Given the description of an element on the screen output the (x, y) to click on. 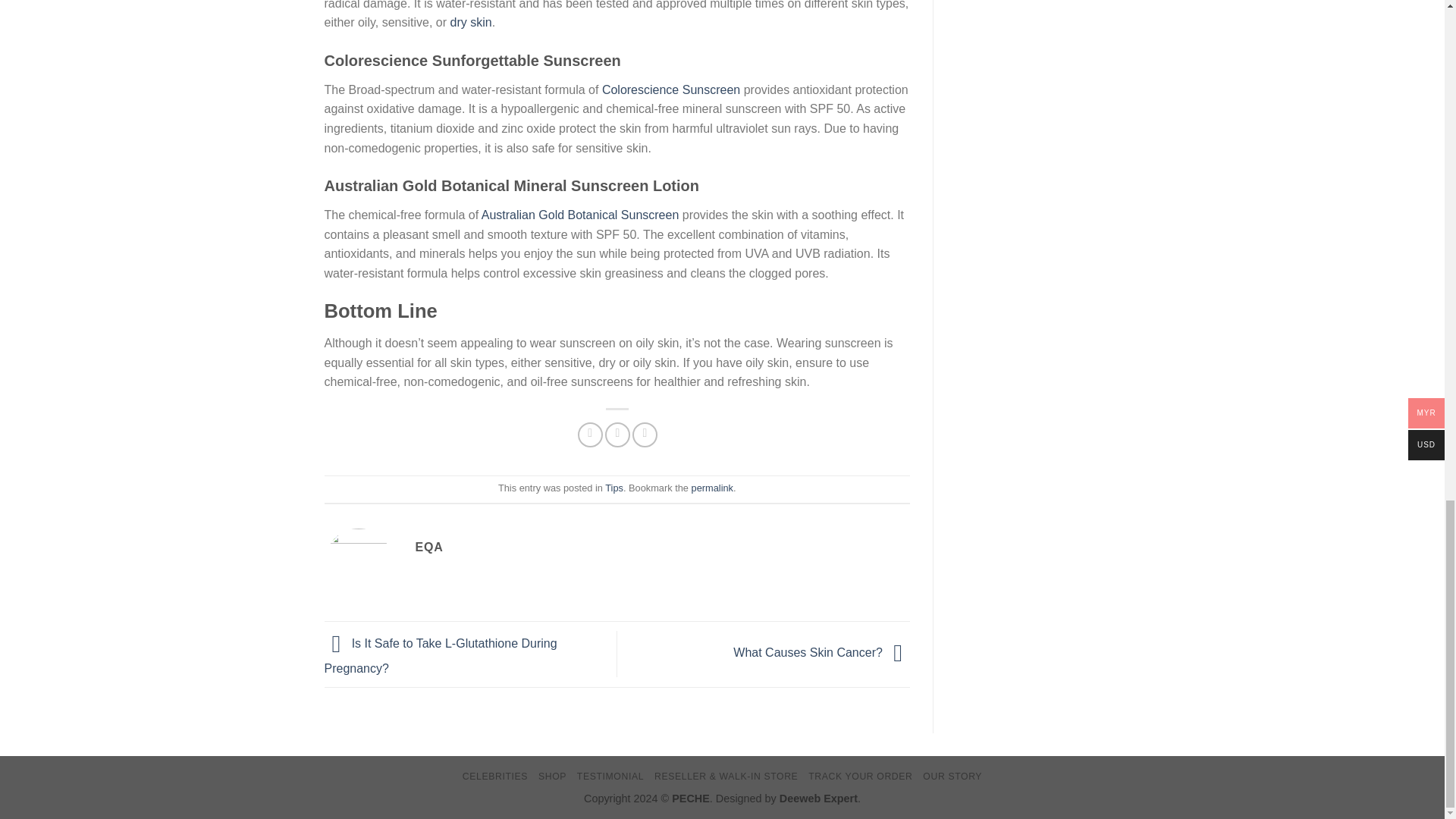
Share on Facebook (590, 434)
Share on Twitter (617, 434)
Email to a Friend (644, 434)
Permalink to 6 Best Sunscreens for Oily Skin (712, 487)
